Given the description of an element on the screen output the (x, y) to click on. 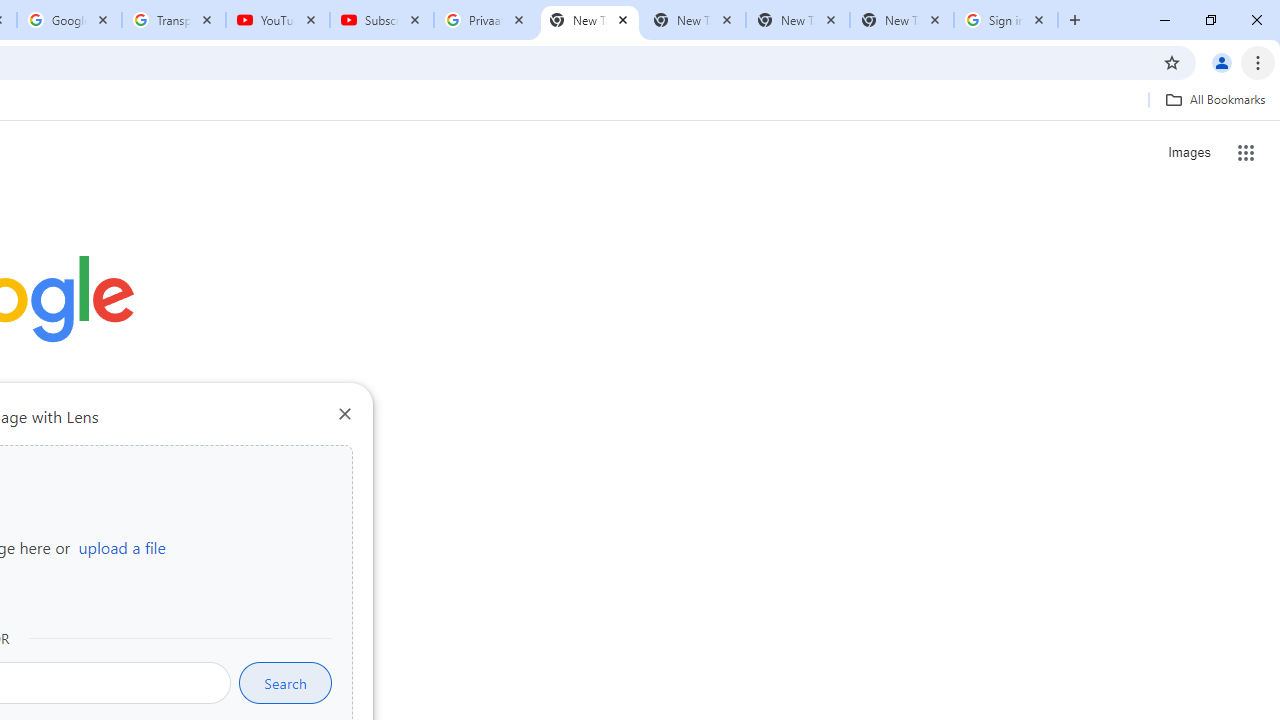
More actions for Sign in shortcut (152, 466)
Add shortcut (223, 504)
